Given the description of an element on the screen output the (x, y) to click on. 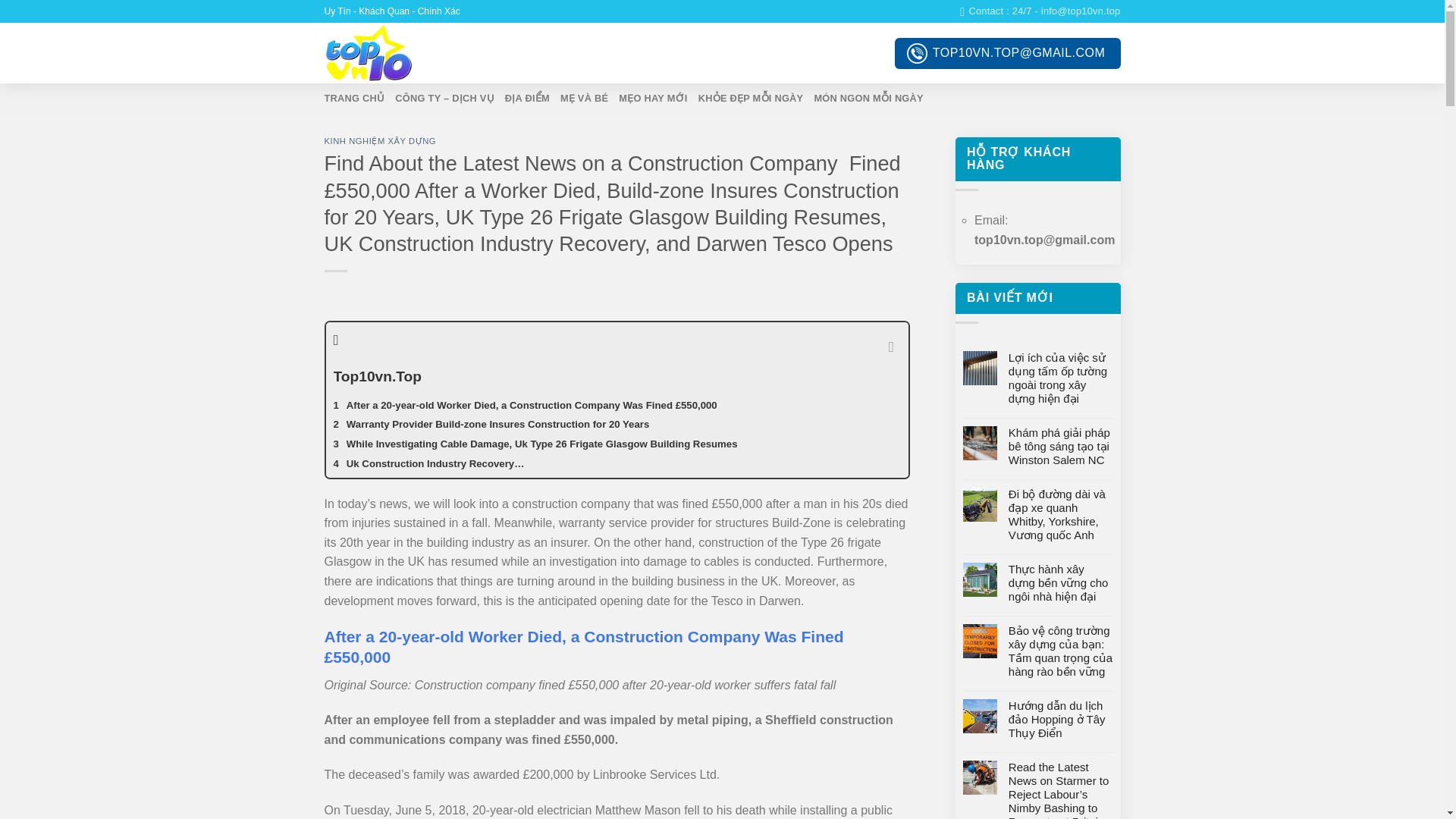
As Building Progresses, Darwen Tesco Opens (617, 483)
